Given the description of an element on the screen output the (x, y) to click on. 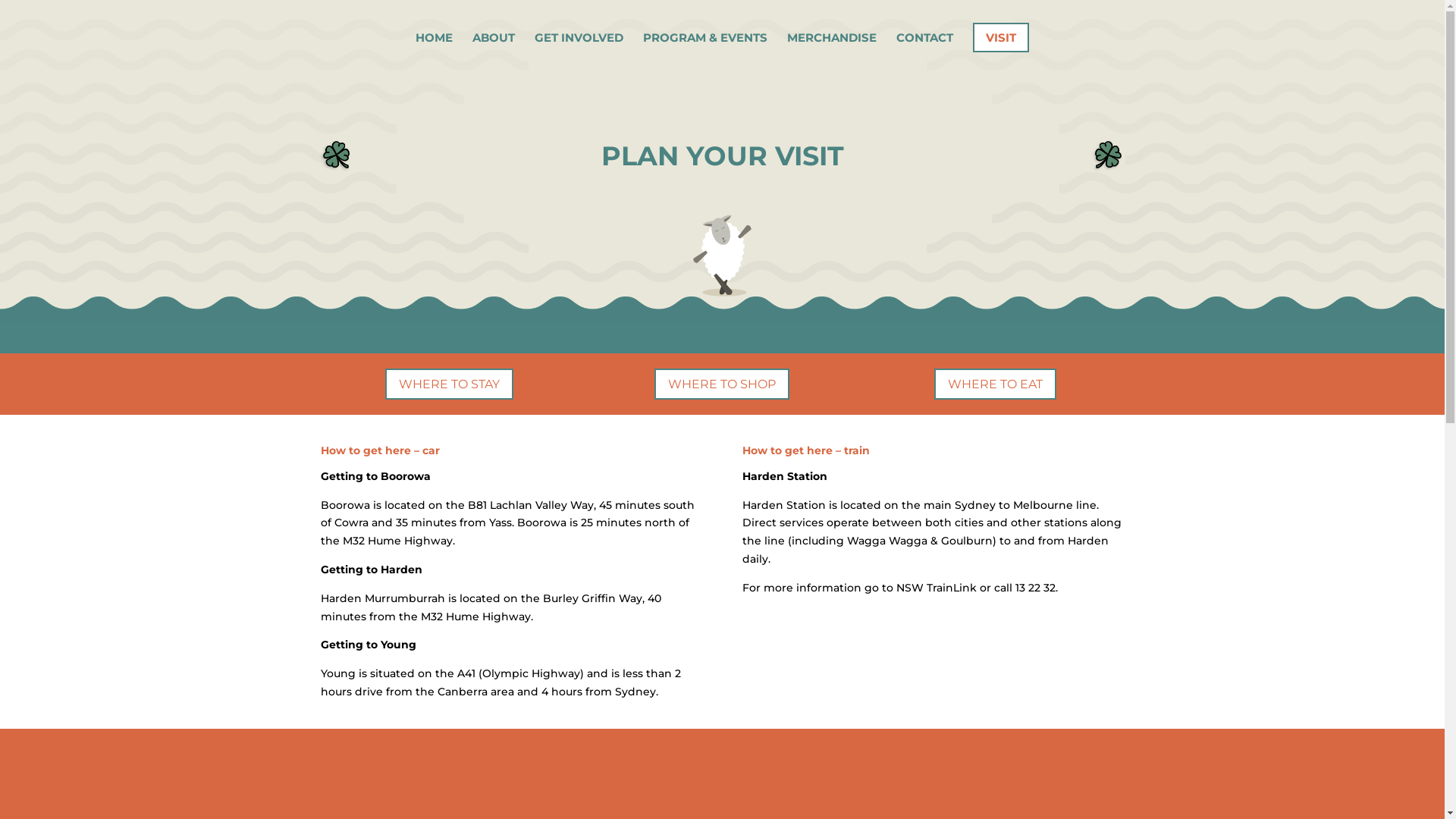
WHERE TO EAT Element type: text (995, 383)
MERCHANDISE Element type: text (831, 48)
HOME Element type: text (433, 48)
CONTACT Element type: text (924, 48)
WHERE TO STAY Element type: text (449, 383)
GET INVOLVED Element type: text (578, 48)
ABOUT Element type: text (493, 48)
PROGRAM & EVENTS Element type: text (705, 48)
WHERE TO SHOP Element type: text (721, 383)
VISIT Element type: text (1000, 48)
